Given the description of an element on the screen output the (x, y) to click on. 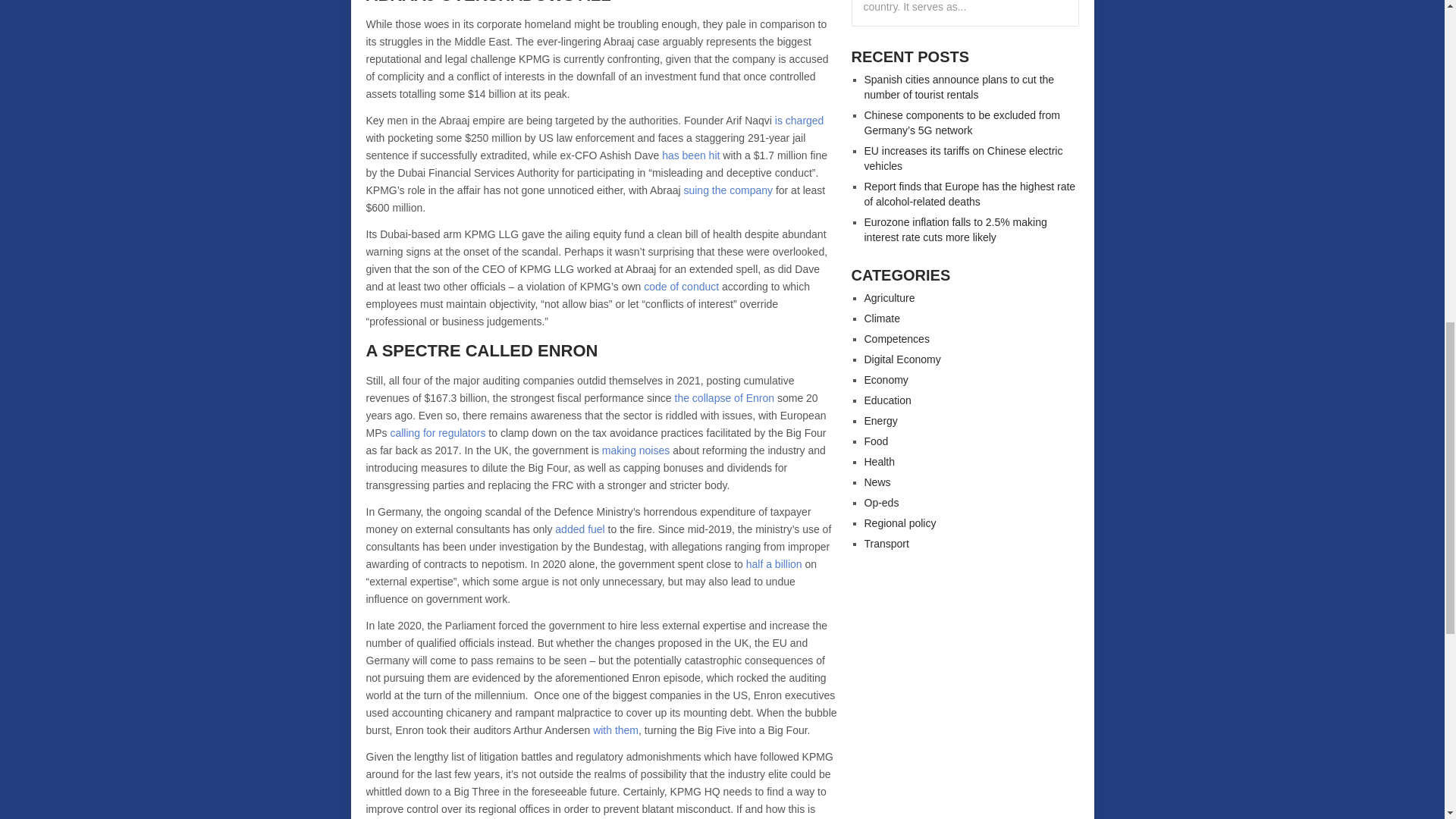
is charged (799, 120)
the collapse of Enron (724, 398)
code of conduct (681, 286)
has been hit (690, 155)
suing the company (727, 190)
